Given the description of an element on the screen output the (x, y) to click on. 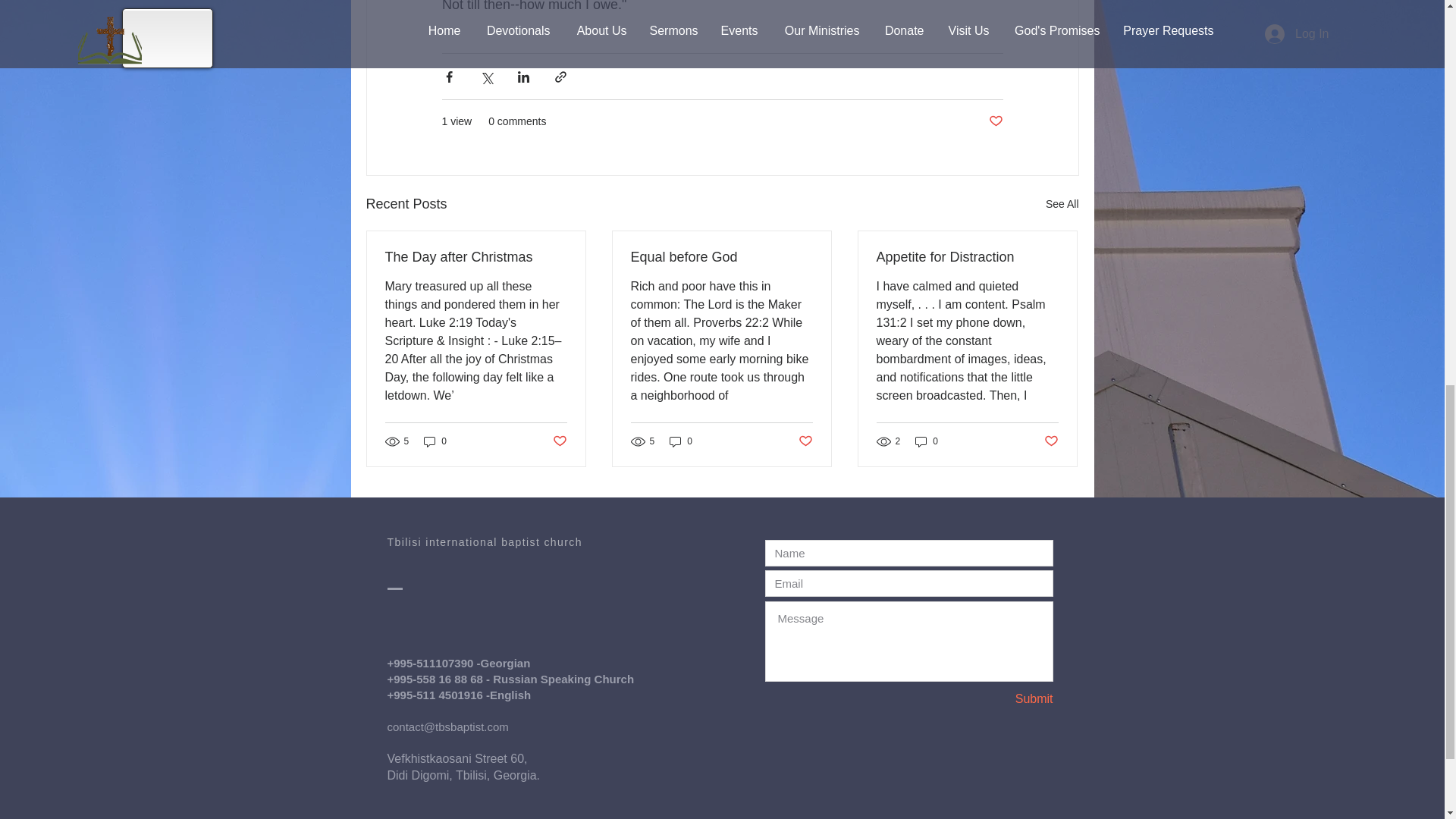
0 (681, 440)
Post not marked as liked (558, 441)
0 (435, 440)
Equal before God (721, 257)
Appetite for Distraction (967, 257)
Post not marked as liked (995, 121)
The Day after Christmas (476, 257)
See All (1061, 204)
Post not marked as liked (804, 441)
